Given the description of an element on the screen output the (x, y) to click on. 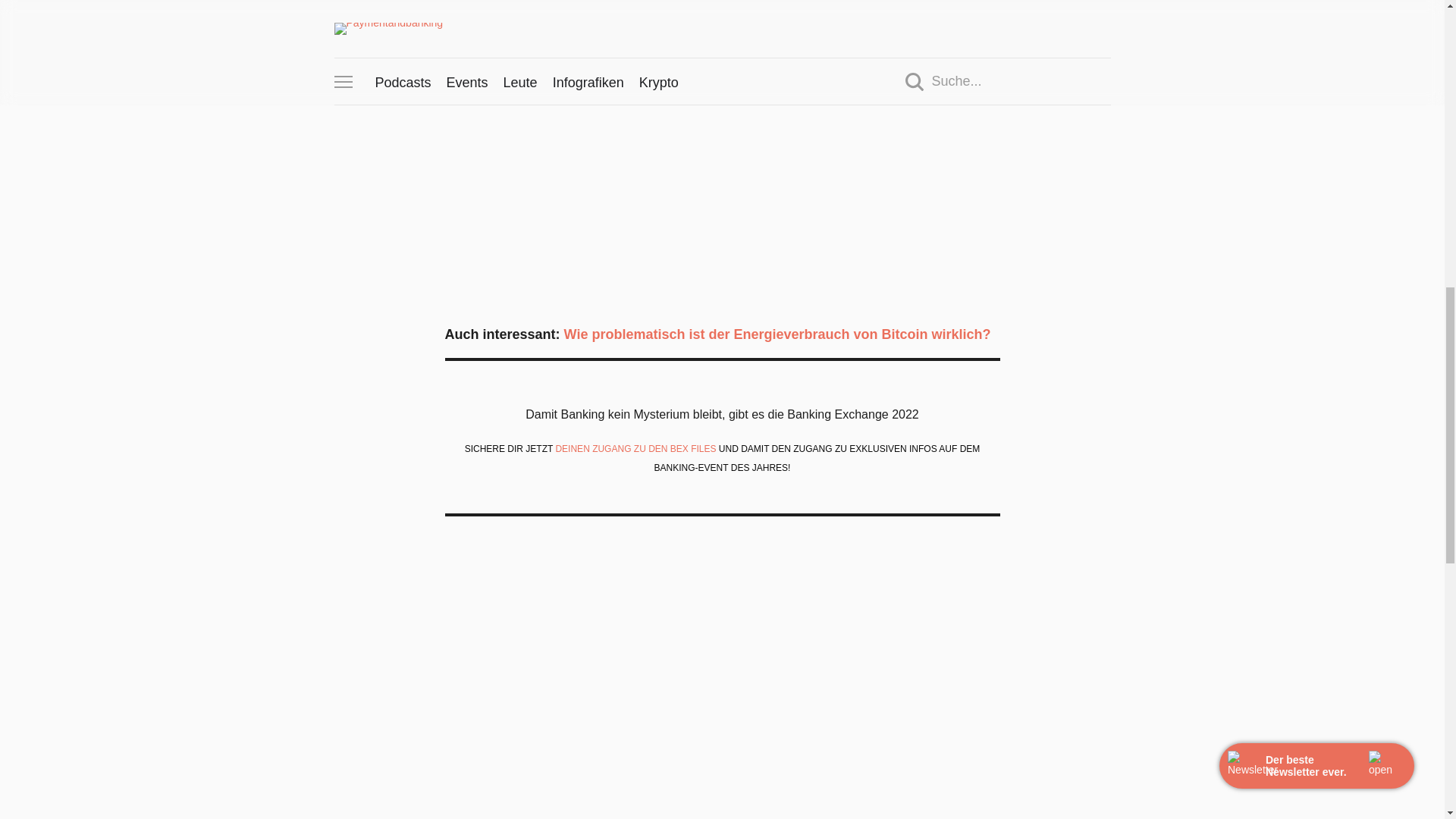
DEINEN ZUGANG ZU DEN BEX FILES (635, 448)
